Given the description of an element on the screen output the (x, y) to click on. 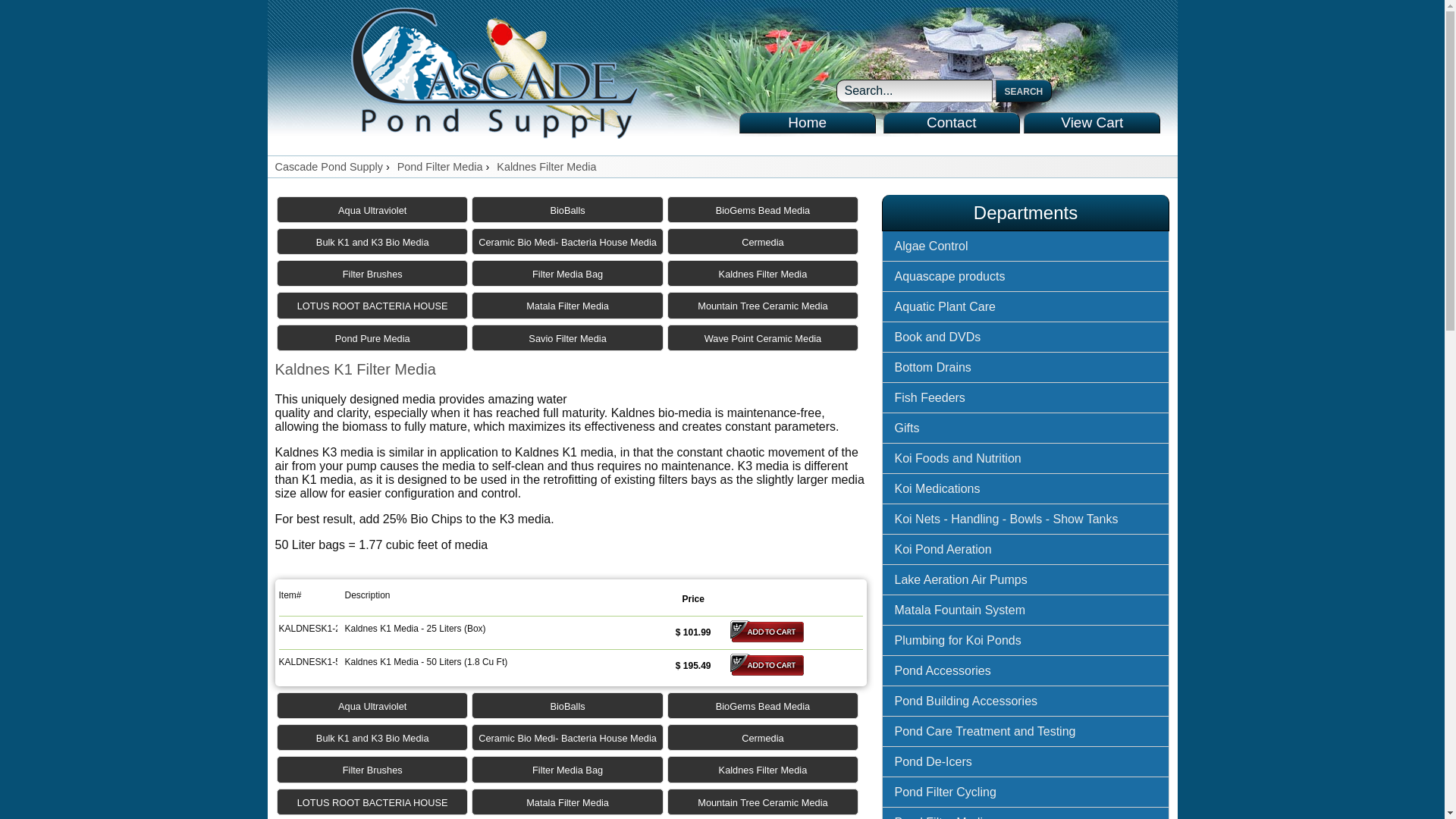
Filter Media Bag (566, 768)
Savio Filter Media (566, 337)
BioBalls (566, 209)
Bulk K1 and K3 Bio Media (371, 241)
Ceramic Bio Medi- Bacteria House Media Bakki Shower (566, 241)
Home (807, 122)
Cermedia (762, 241)
Kaldnes Filter Media (545, 166)
Search... (913, 90)
Matala Filter Media (566, 304)
